Given the description of an element on the screen output the (x, y) to click on. 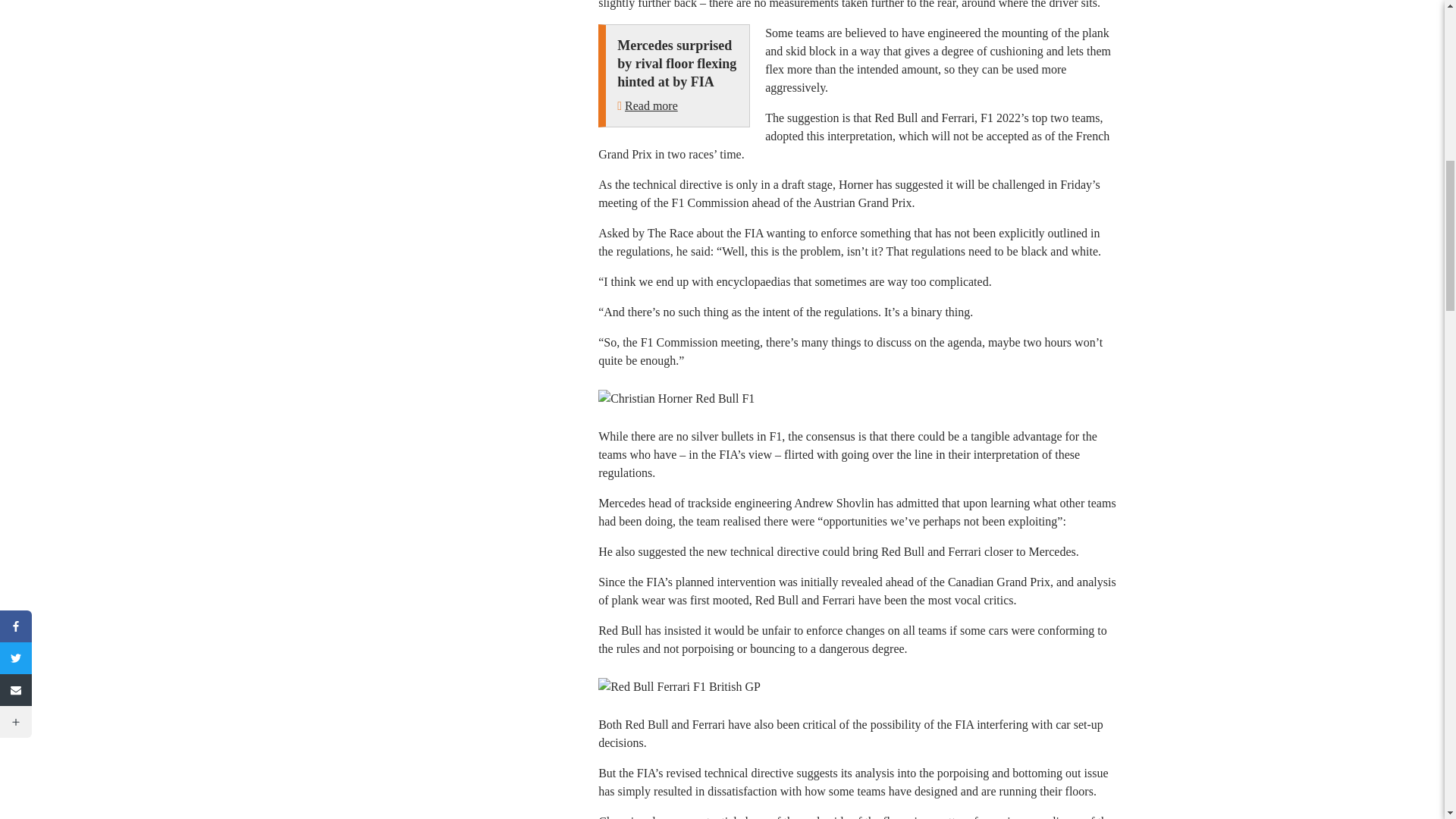
Read more (651, 105)
